Given the description of an element on the screen output the (x, y) to click on. 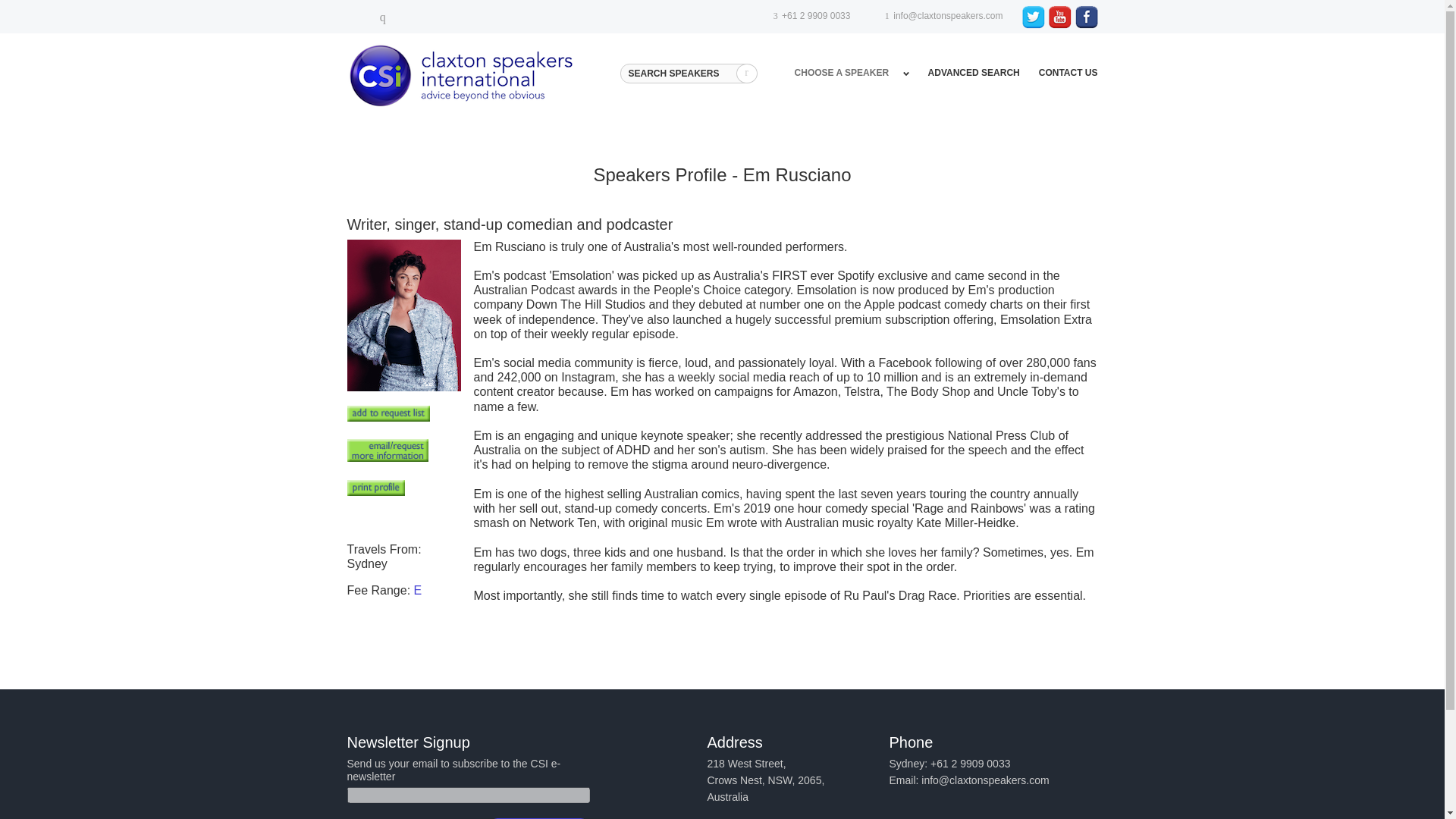
SEARCH SPEAKERS (687, 73)
SEARCH SPEAKERS (687, 73)
CONTACT US (1068, 72)
ADVANCED SEARCH (974, 72)
